Given the description of an element on the screen output the (x, y) to click on. 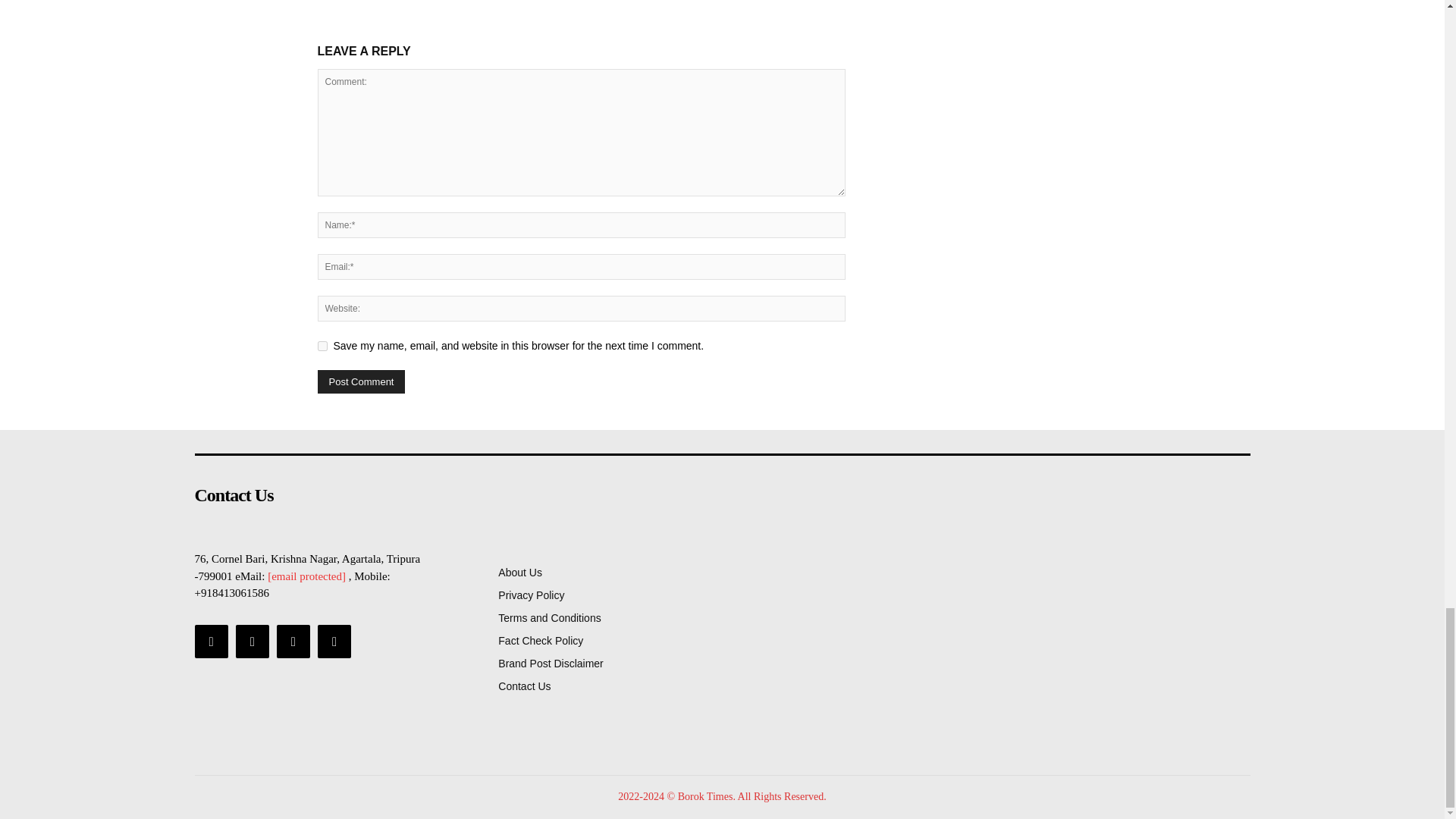
yes (321, 346)
Post Comment (360, 381)
